Given the description of an element on the screen output the (x, y) to click on. 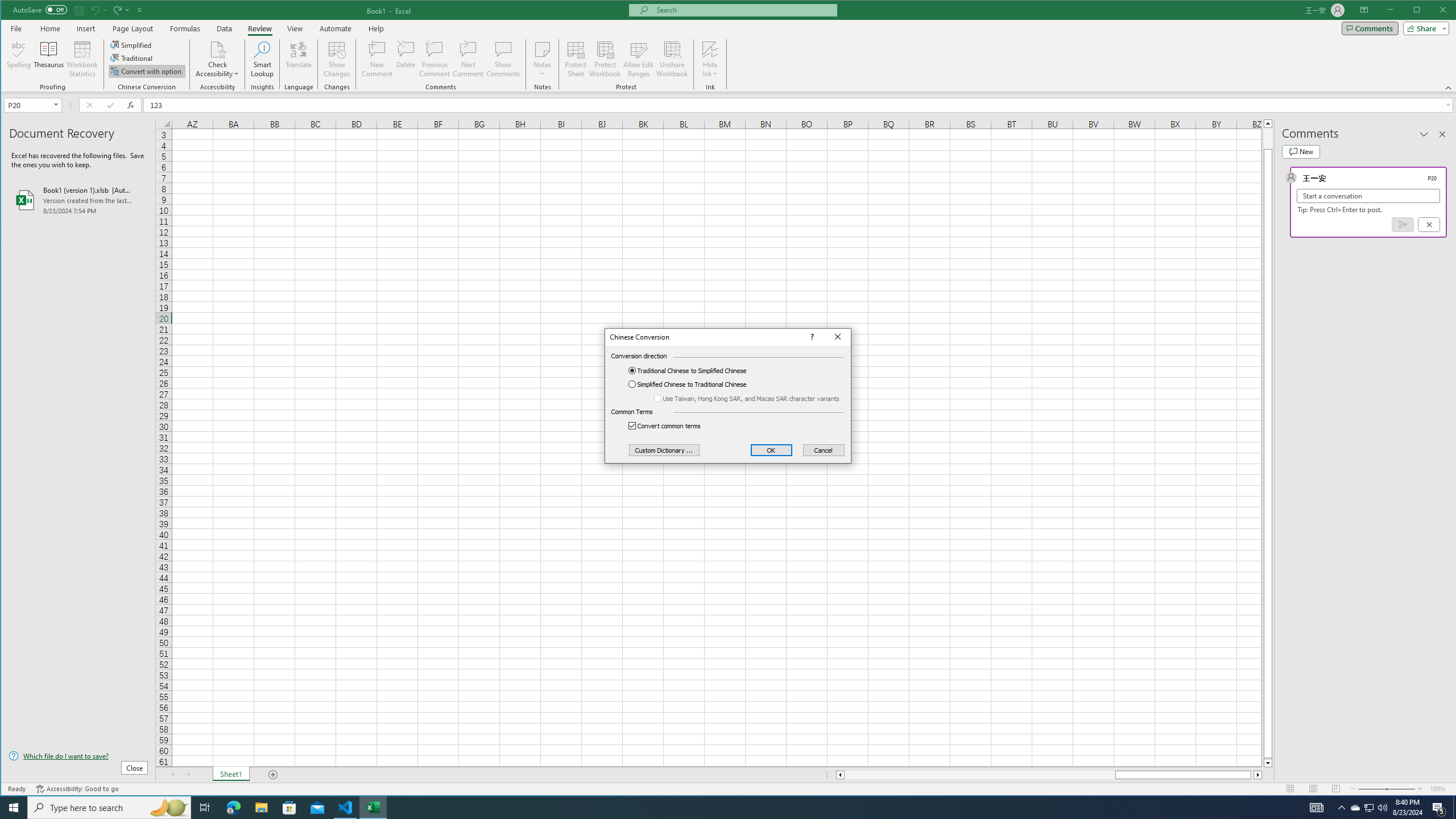
Traditional Chinese to Simplified Chinese (696, 370)
AutomationID: 4105 (1316, 807)
Convert with option (146, 70)
Unshare Workbook (671, 59)
New Comment (377, 59)
Show Changes (335, 59)
